Given the description of an element on the screen output the (x, y) to click on. 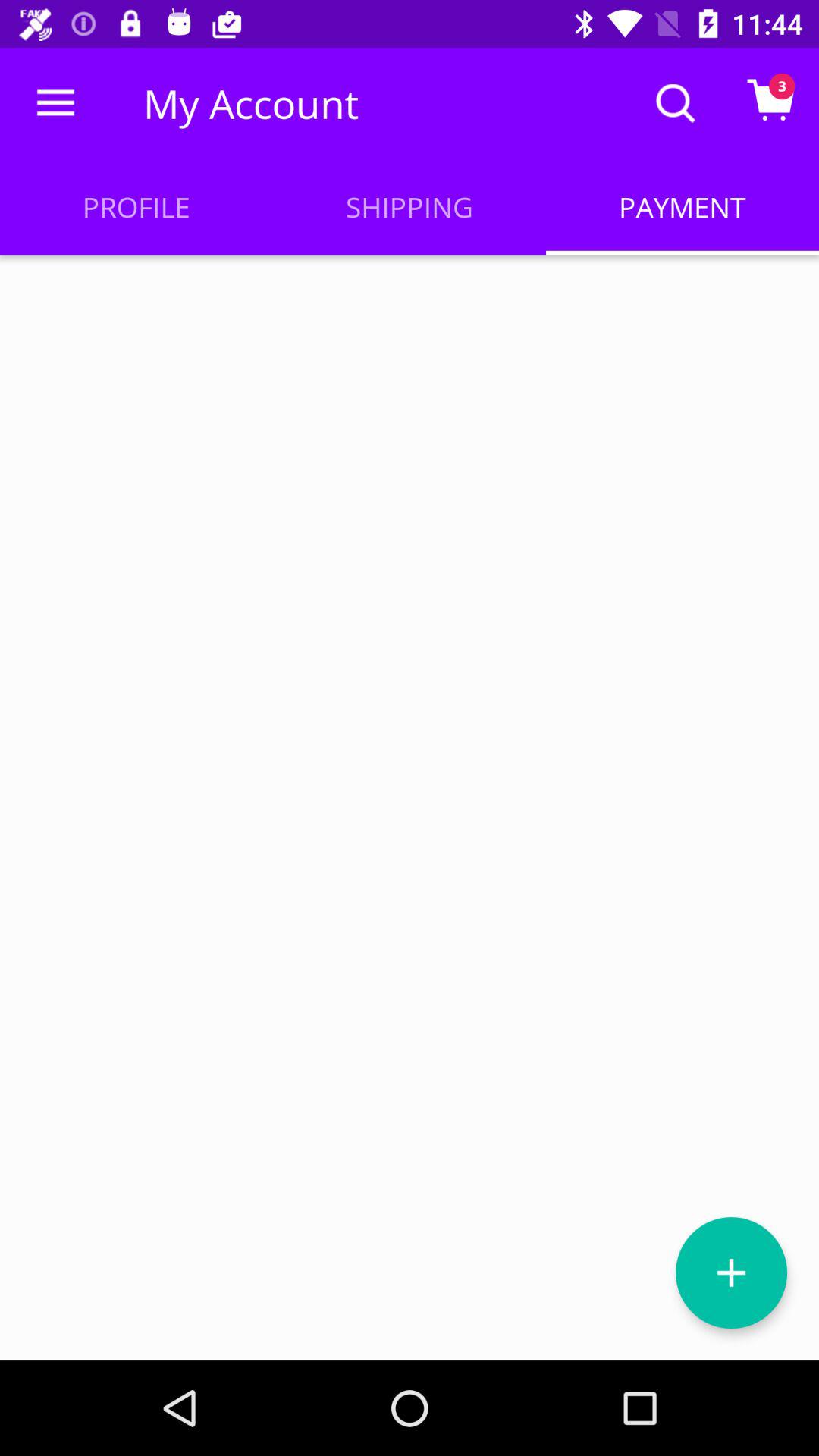
click on the plus symbol button which is at the bottom right of the page (731, 1273)
click the search option (675, 103)
select the symbol left to cart (675, 103)
